Given the description of an element on the screen output the (x, y) to click on. 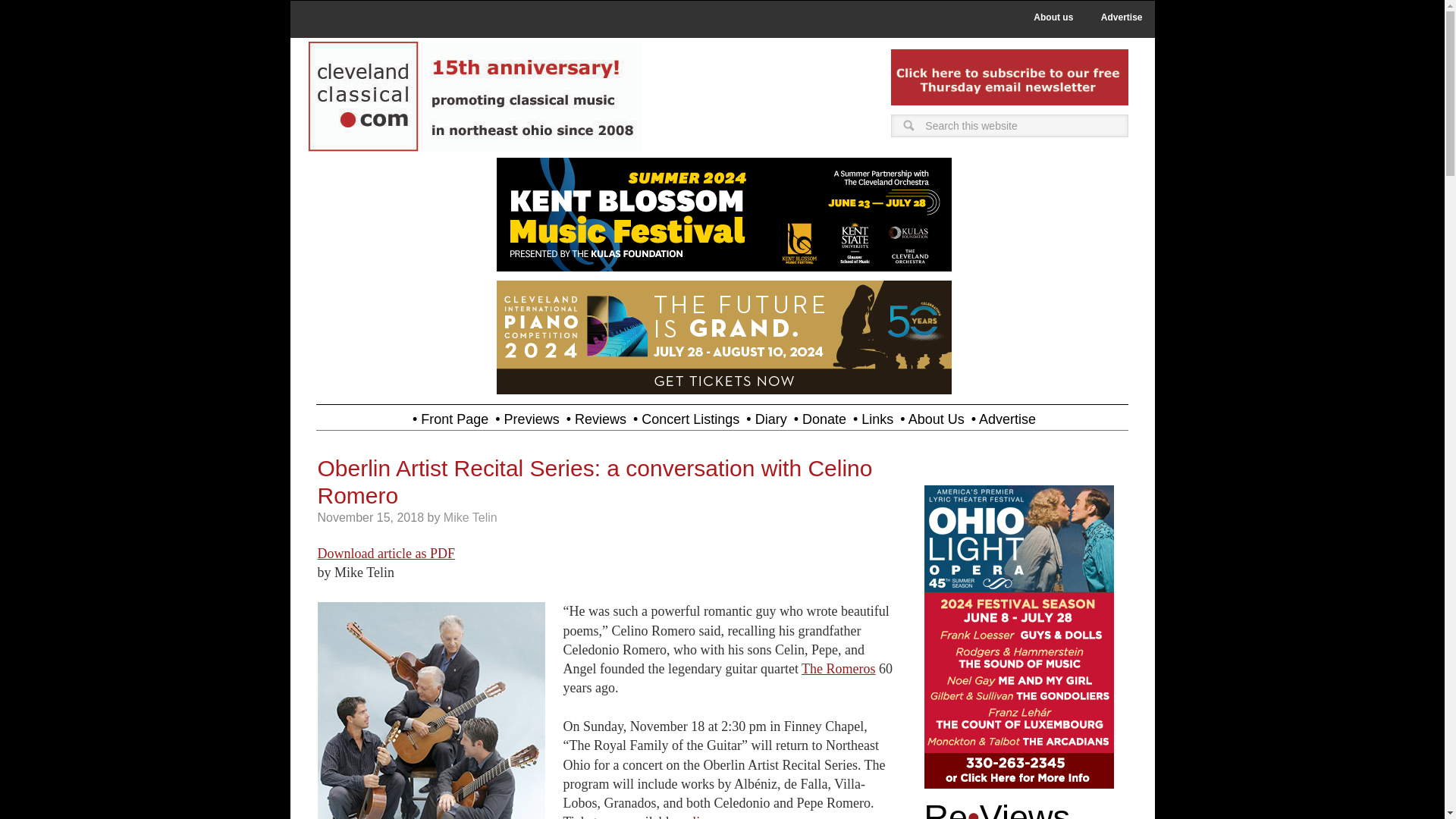
Download article as PDF (385, 553)
Advertise (1121, 17)
online (695, 816)
The Romeros (838, 668)
About us (1053, 17)
Mike Telin (470, 517)
